Given the description of an element on the screen output the (x, y) to click on. 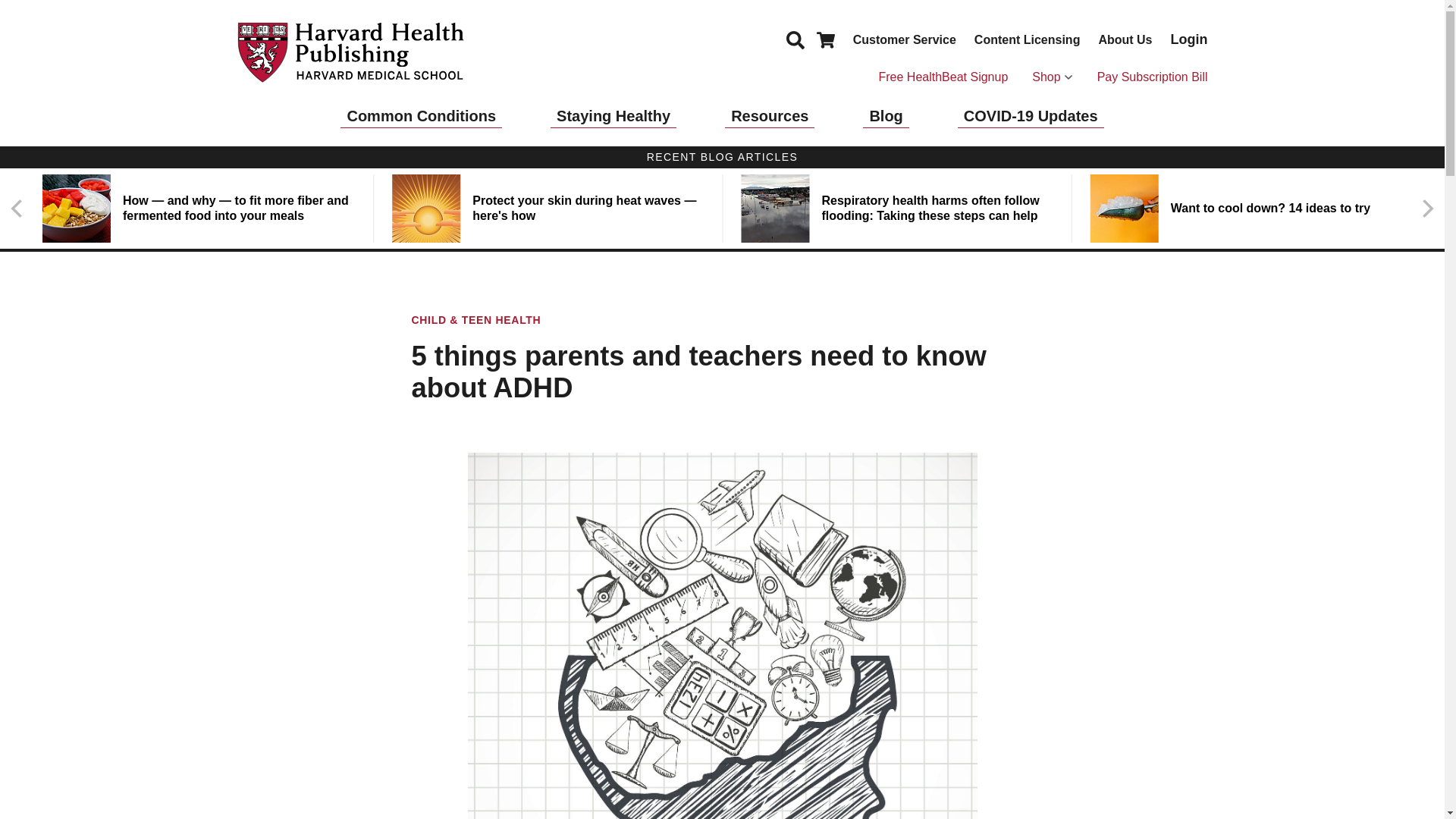
Blog (885, 115)
Search (795, 39)
COVID-19 Updates (1030, 115)
Want to cool down? 14 ideas to try (1246, 208)
Staying Healthy (613, 115)
Resources (769, 115)
Common Conditions (421, 115)
Login (1189, 39)
Shop (1051, 76)
